Given the description of an element on the screen output the (x, y) to click on. 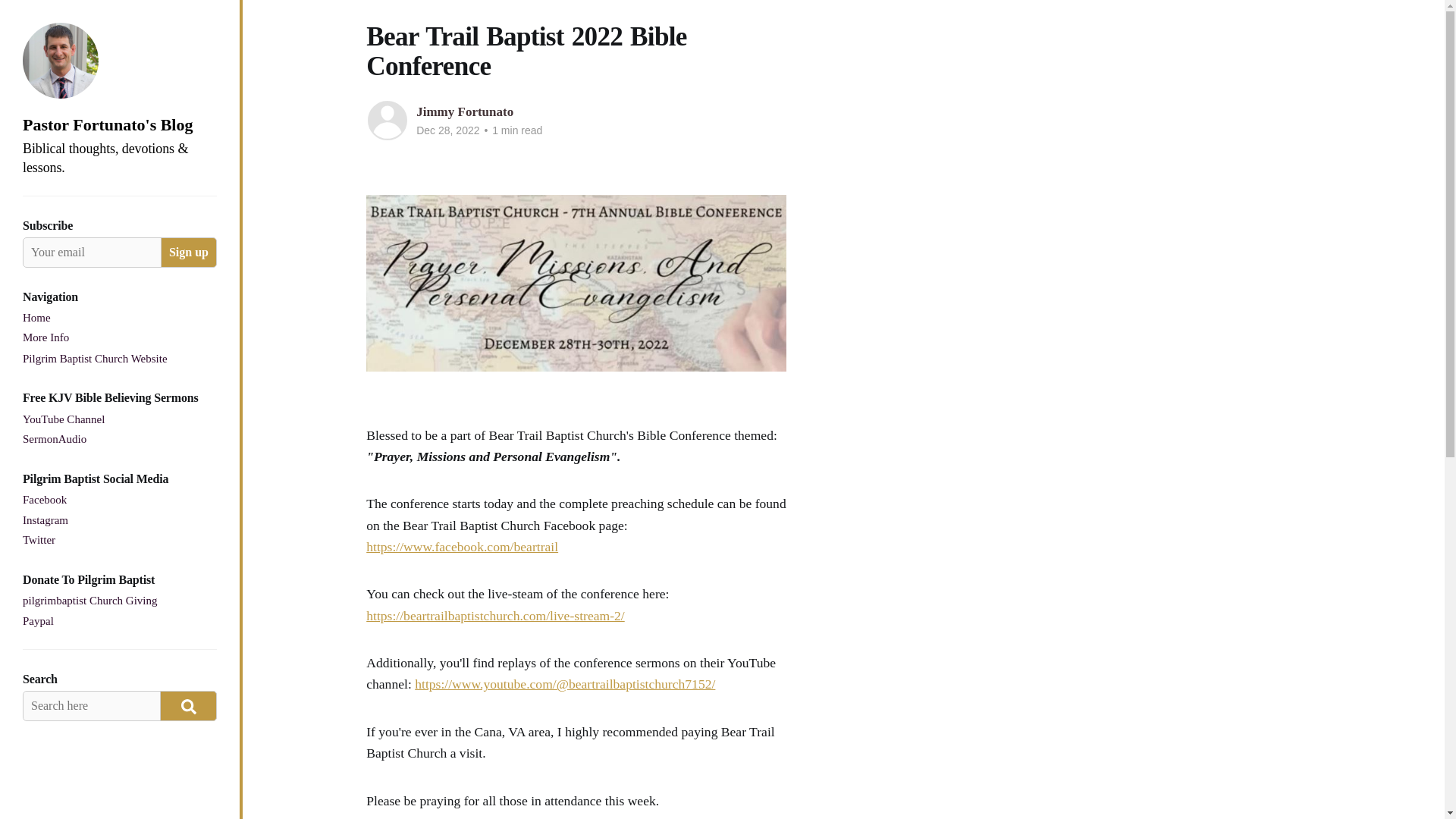
Instagram (45, 520)
YouTube Channel (63, 419)
Pilgrim Baptist Church Website (95, 359)
SermonAudio (54, 439)
Facebook (44, 500)
Twitter (39, 540)
Home (36, 318)
Jimmy Fortunato (464, 111)
Paypal (38, 621)
pilgrimbaptist Church Giving (90, 600)
More Info (45, 338)
Sign up (188, 252)
